Given the description of an element on the screen output the (x, y) to click on. 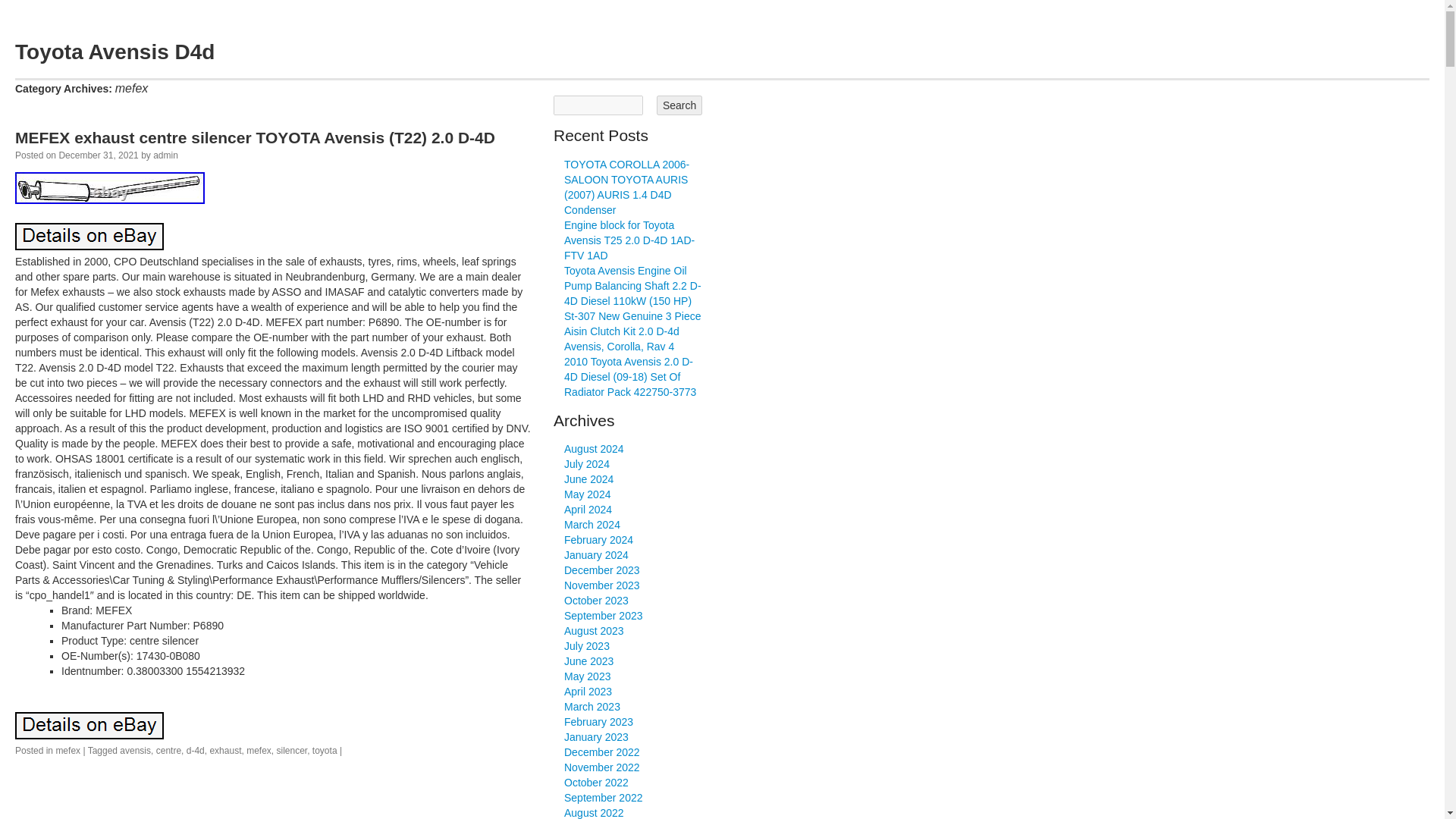
April 2023 (587, 691)
Toyota Avensis D4d (114, 51)
June 2023 (588, 661)
May 2024 (587, 494)
admin (164, 154)
December 31, 2021 (98, 154)
May 2023 (587, 676)
Skip to content (60, 88)
March 2024 (592, 524)
March 2023 (592, 706)
